Given the description of an element on the screen output the (x, y) to click on. 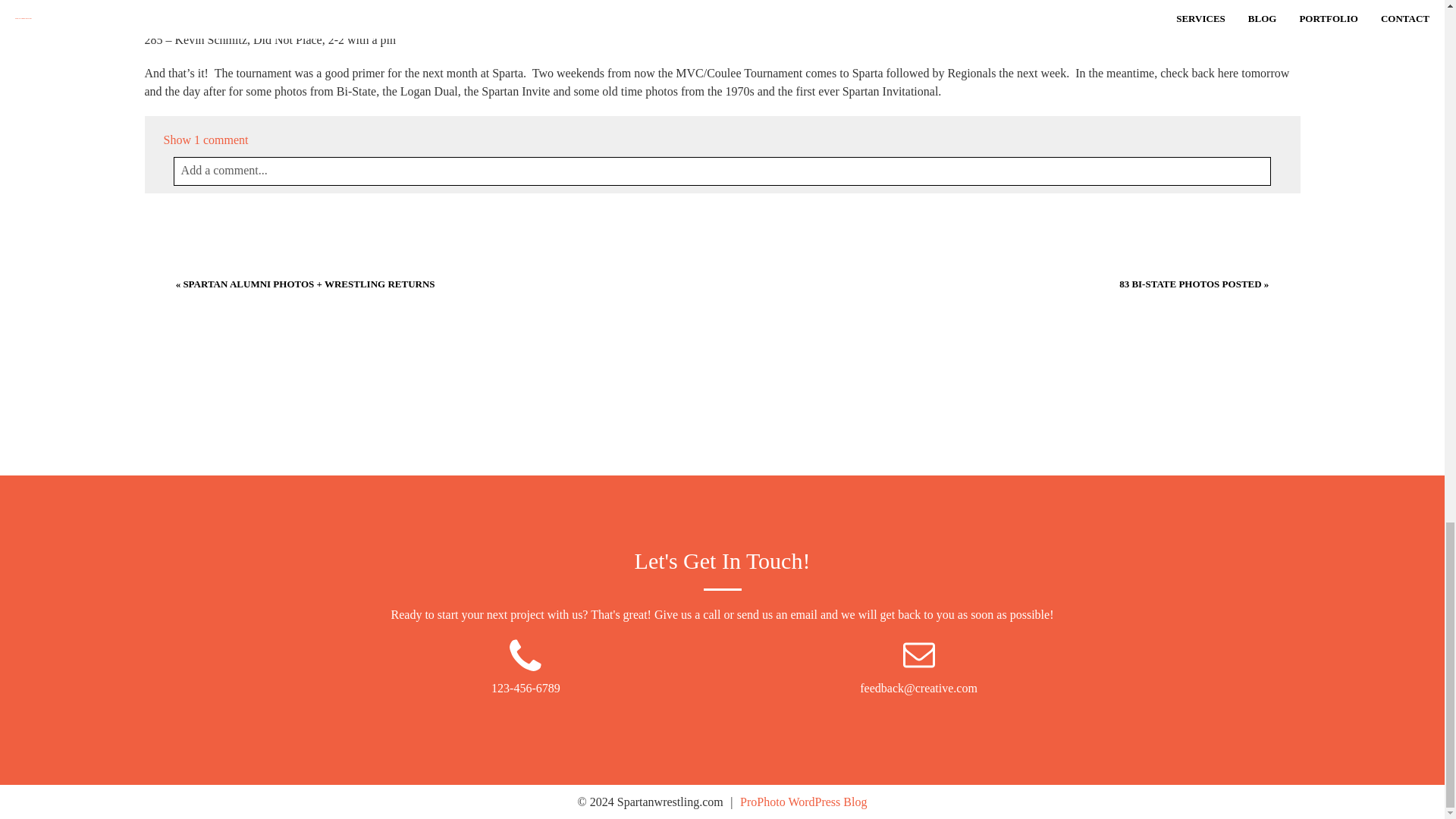
ProPhoto7 WordPress Theme (802, 801)
Show 1 comment (205, 139)
83 BI-STATE PHOTOS POSTED (1189, 283)
ProPhoto WordPress Blog (802, 801)
